Given the description of an element on the screen output the (x, y) to click on. 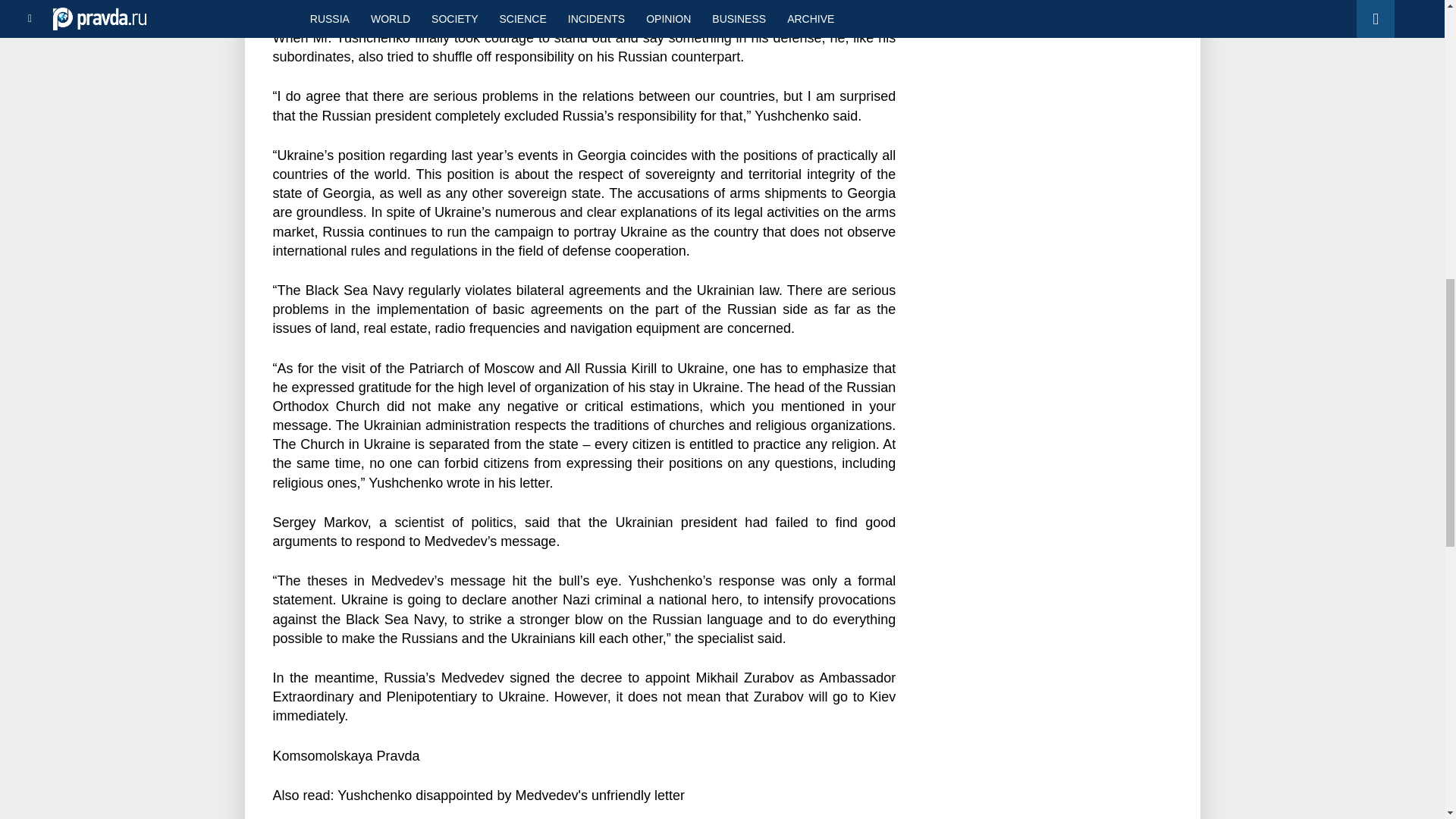
Back to top (1418, 79)
